Given the description of an element on the screen output the (x, y) to click on. 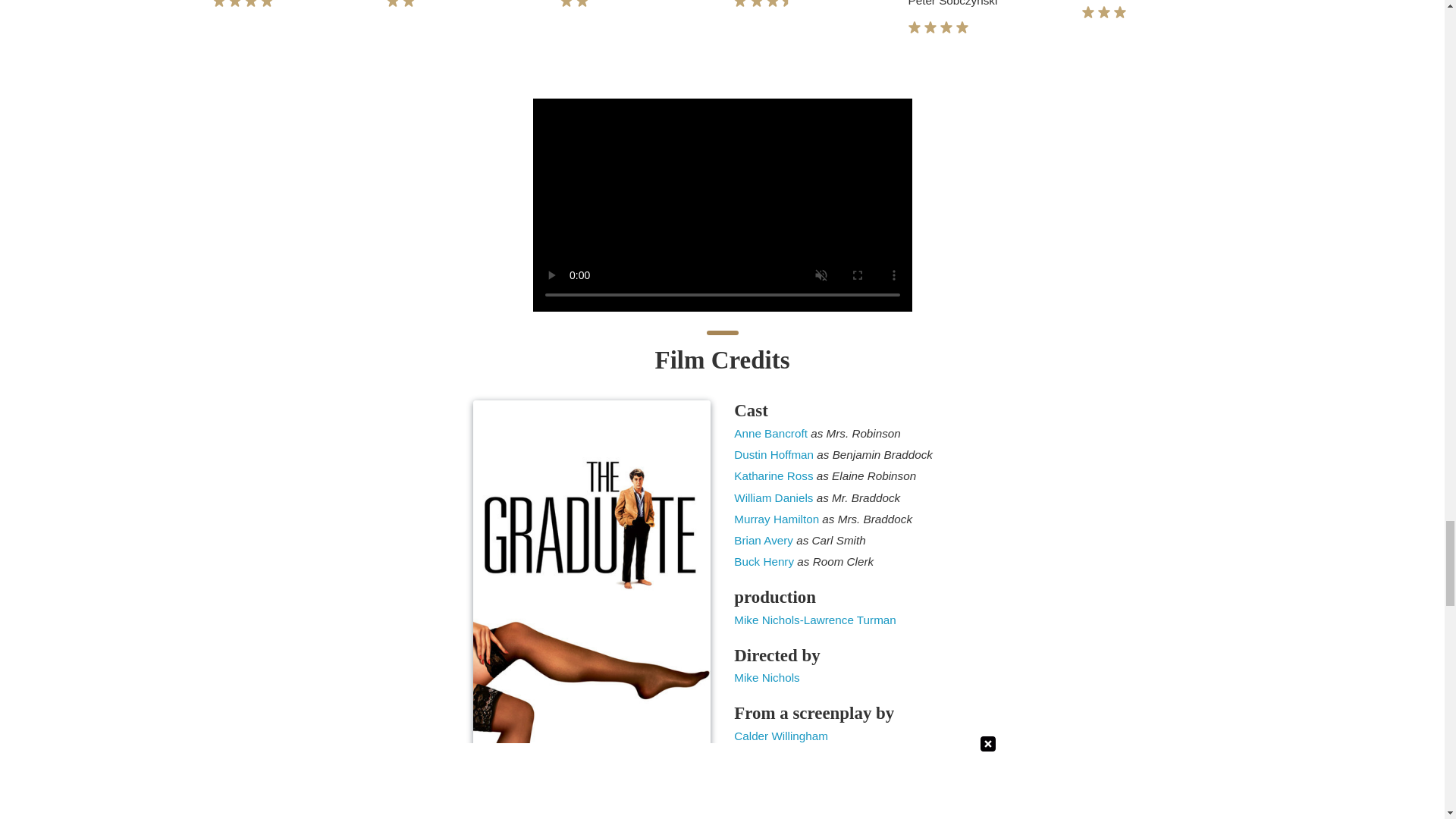
star-full (234, 3)
Anne Bancroft (771, 432)
star-full (218, 3)
star-full (250, 3)
